Given the description of an element on the screen output the (x, y) to click on. 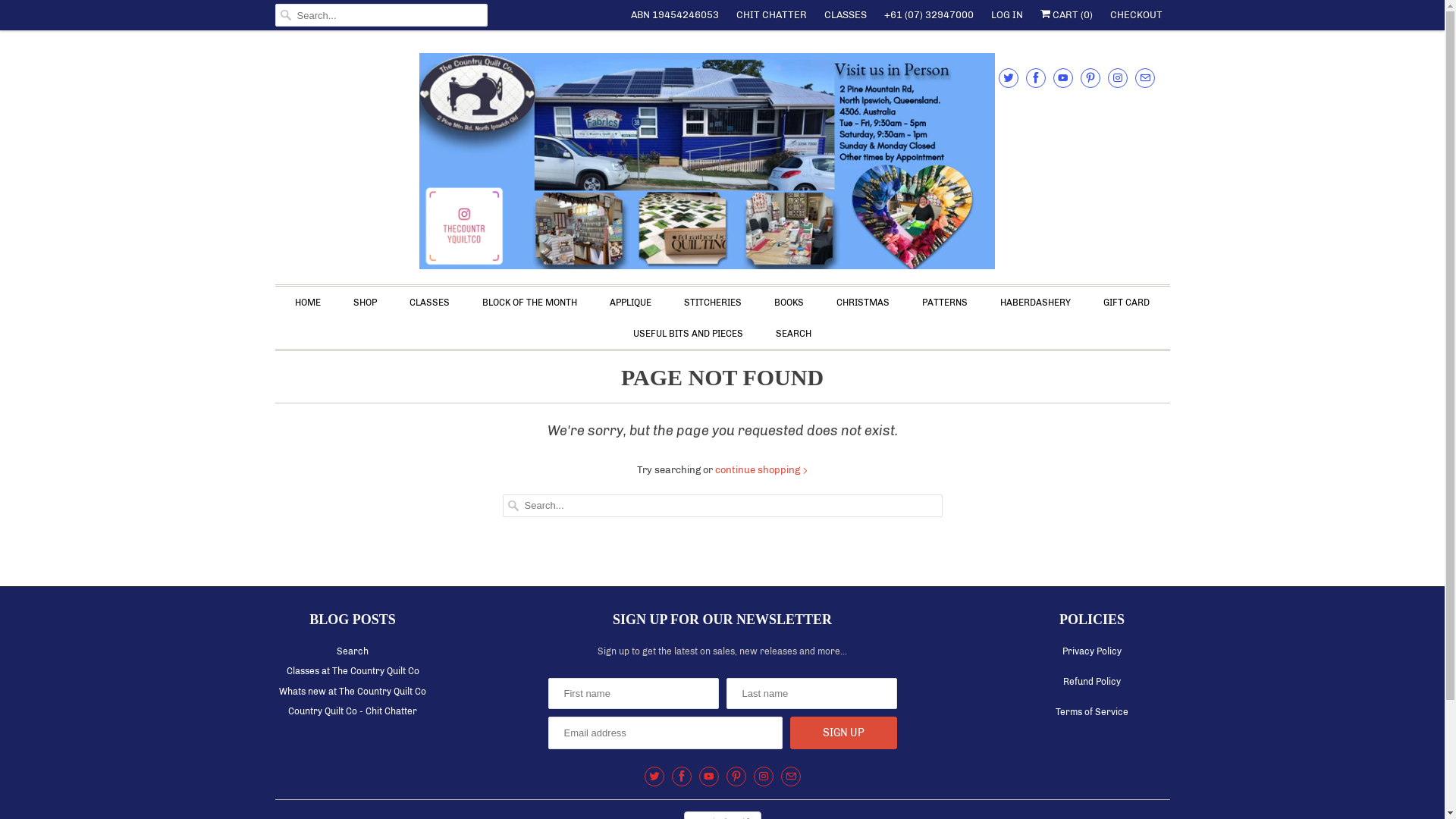
HOME Element type: text (307, 302)
PATTERNS Element type: text (944, 302)
Search Element type: text (352, 651)
GIFT CARD Element type: text (1126, 302)
Privacy Policy Element type: text (1091, 651)
APPLIQUE Element type: text (630, 302)
CART (0) Element type: text (1066, 14)
Whats new at The Country Quilt Co Element type: text (352, 691)
Refund Policy Element type: text (1091, 681)
The Country Quilt Co Element type: hover (721, 161)
The Country Quilt Co on Facebook Element type: hover (1034, 77)
CLASSES Element type: text (429, 302)
The Country Quilt Co on Instagram Element type: hover (763, 776)
SHOP Element type: text (364, 302)
The Country Quilt Co on Pinterest Element type: hover (736, 776)
Email The Country Quilt Co Element type: hover (1144, 77)
HABERDASHERY Element type: text (1035, 302)
CLASSES Element type: text (844, 14)
continue shopping Element type: text (760, 469)
CHIT CHATTER Element type: text (770, 14)
The Country Quilt Co on YouTube Element type: hover (1062, 77)
The Country Quilt Co on Pinterest Element type: hover (1089, 77)
BLOCK OF THE MONTH Element type: text (529, 302)
Country Quilt Co - Chit Chatter Element type: text (352, 711)
Classes at The Country Quilt Co Element type: text (352, 670)
The Country Quilt Co on YouTube Element type: hover (708, 776)
The Country Quilt Co on Instagram Element type: hover (1116, 77)
Email The Country Quilt Co Element type: hover (790, 776)
Sign Up Element type: text (843, 732)
BOOKS Element type: text (788, 302)
The Country Quilt Co on Twitter Element type: hover (654, 776)
CHECKOUT Element type: text (1136, 14)
The Country Quilt Co on Facebook Element type: hover (681, 776)
The Country Quilt Co on Twitter Element type: hover (1007, 77)
STITCHERIES Element type: text (712, 302)
USEFUL BITS AND PIECES Element type: text (688, 333)
LOG IN Element type: text (1006, 14)
CHRISTMAS Element type: text (862, 302)
SEARCH Element type: text (793, 333)
Terms of Service Element type: text (1091, 711)
+61 (07) 32947000 Element type: text (928, 14)
ABN 19454246053 Element type: text (674, 14)
